Given the description of an element on the screen output the (x, y) to click on. 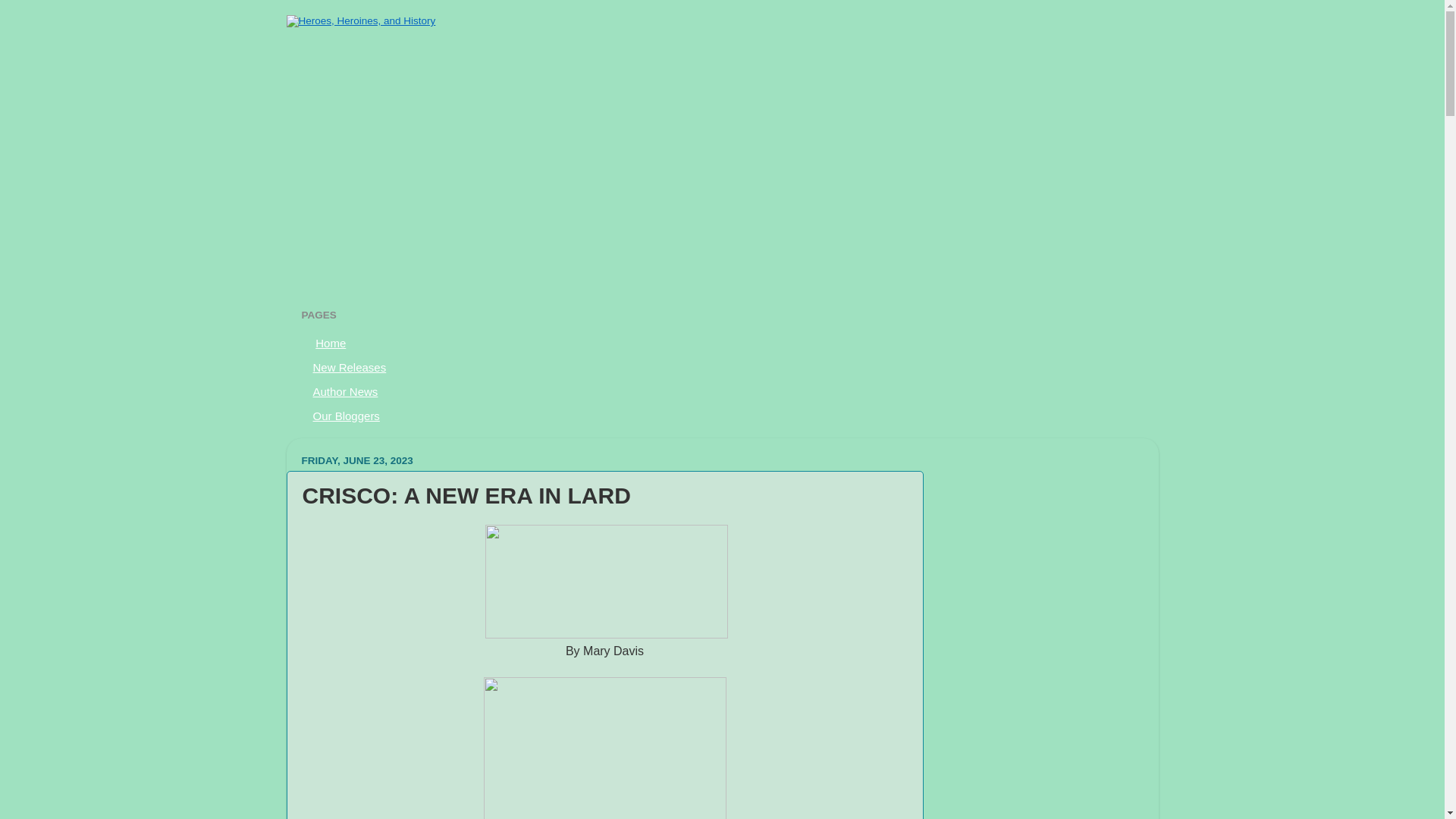
Home (329, 342)
Author News (345, 391)
Our Bloggers (346, 415)
New Releases (349, 366)
